Given the description of an element on the screen output the (x, y) to click on. 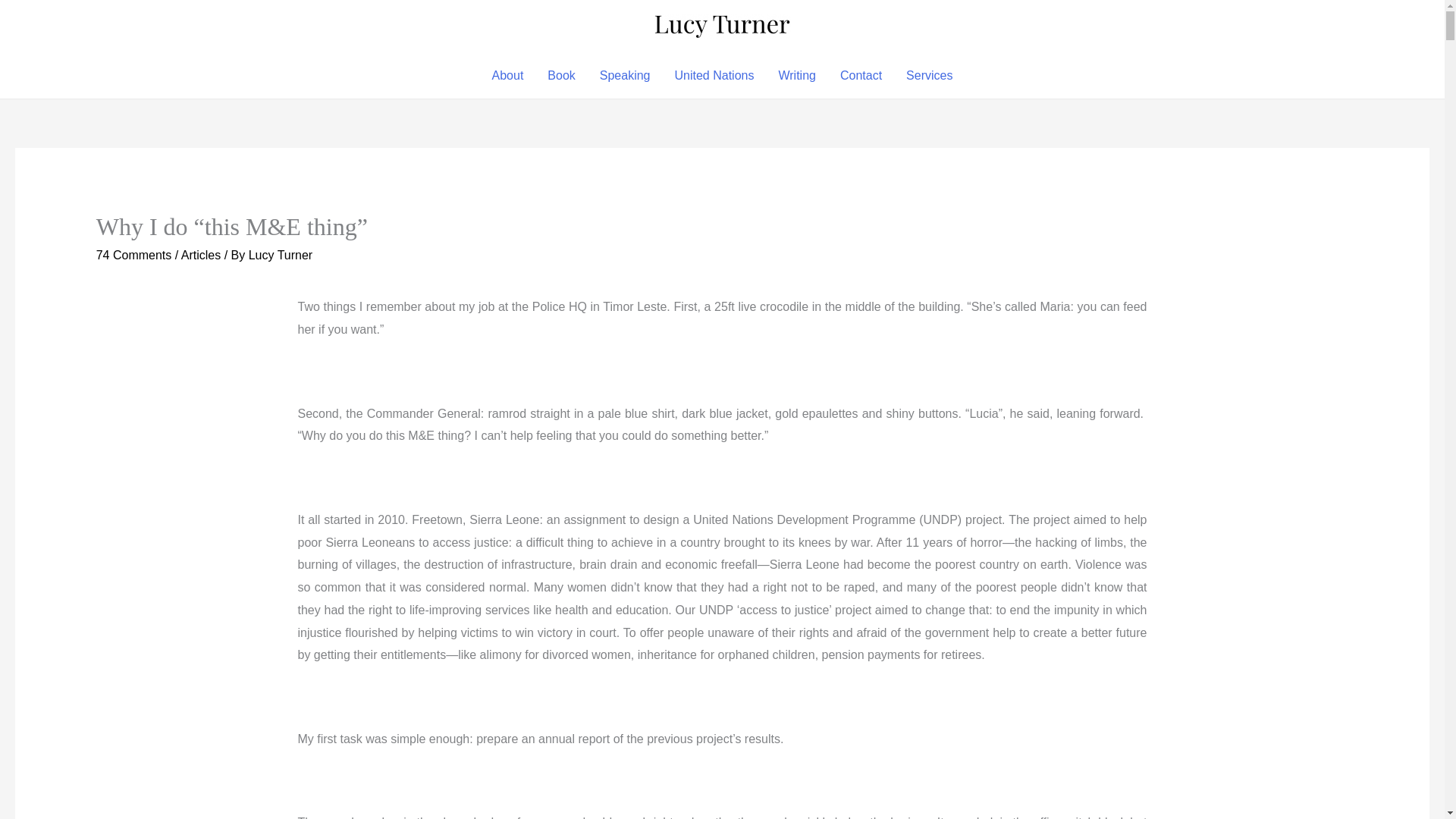
View all posts by Lucy Turner (280, 254)
Book (560, 75)
Writing (796, 75)
Speaking (625, 75)
About (507, 75)
United Nations (714, 75)
Services (928, 75)
74 Comments (133, 254)
Lucy Turner (280, 254)
Contact (860, 75)
